Given the description of an element on the screen output the (x, y) to click on. 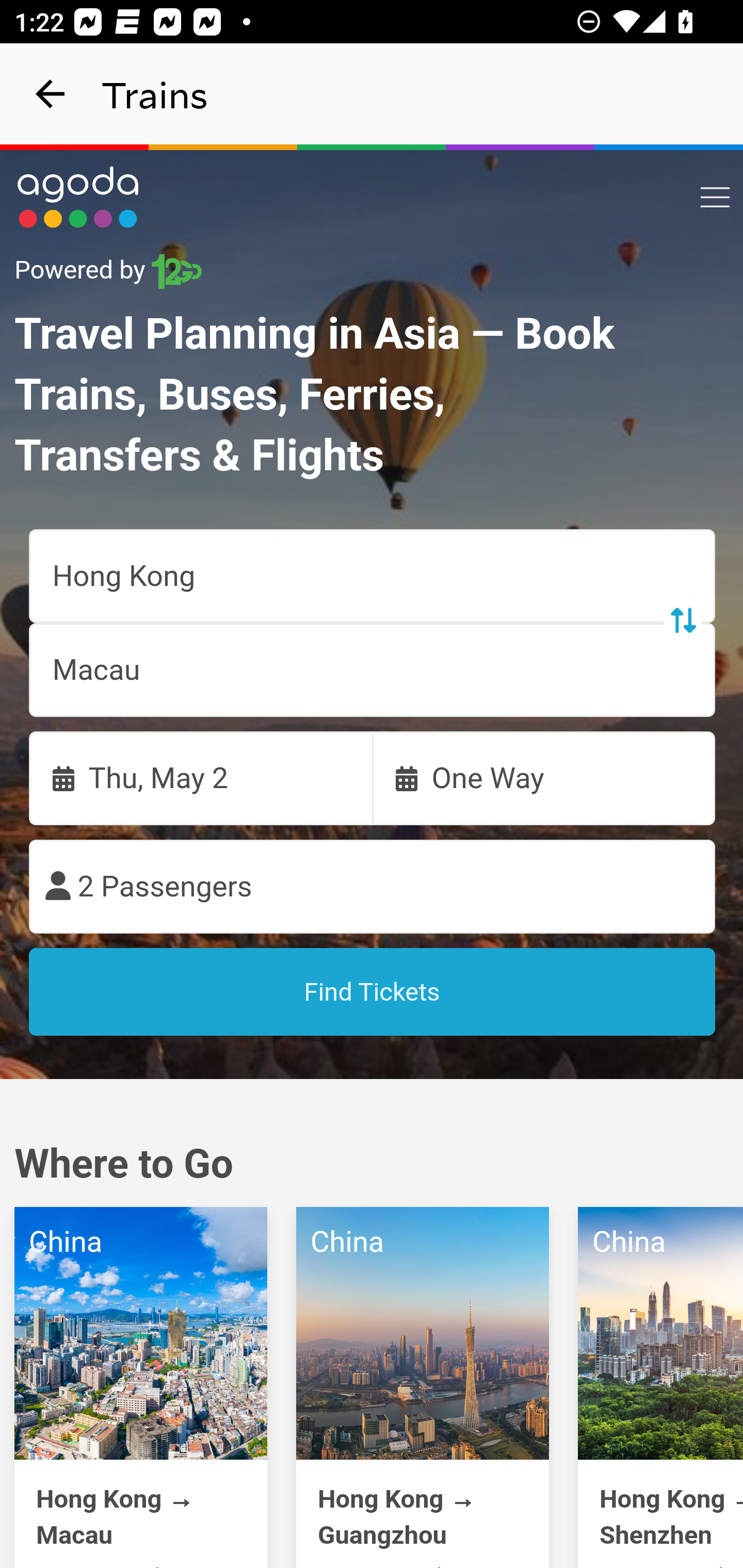
navigation_button (50, 93)
